Given the description of an element on the screen output the (x, y) to click on. 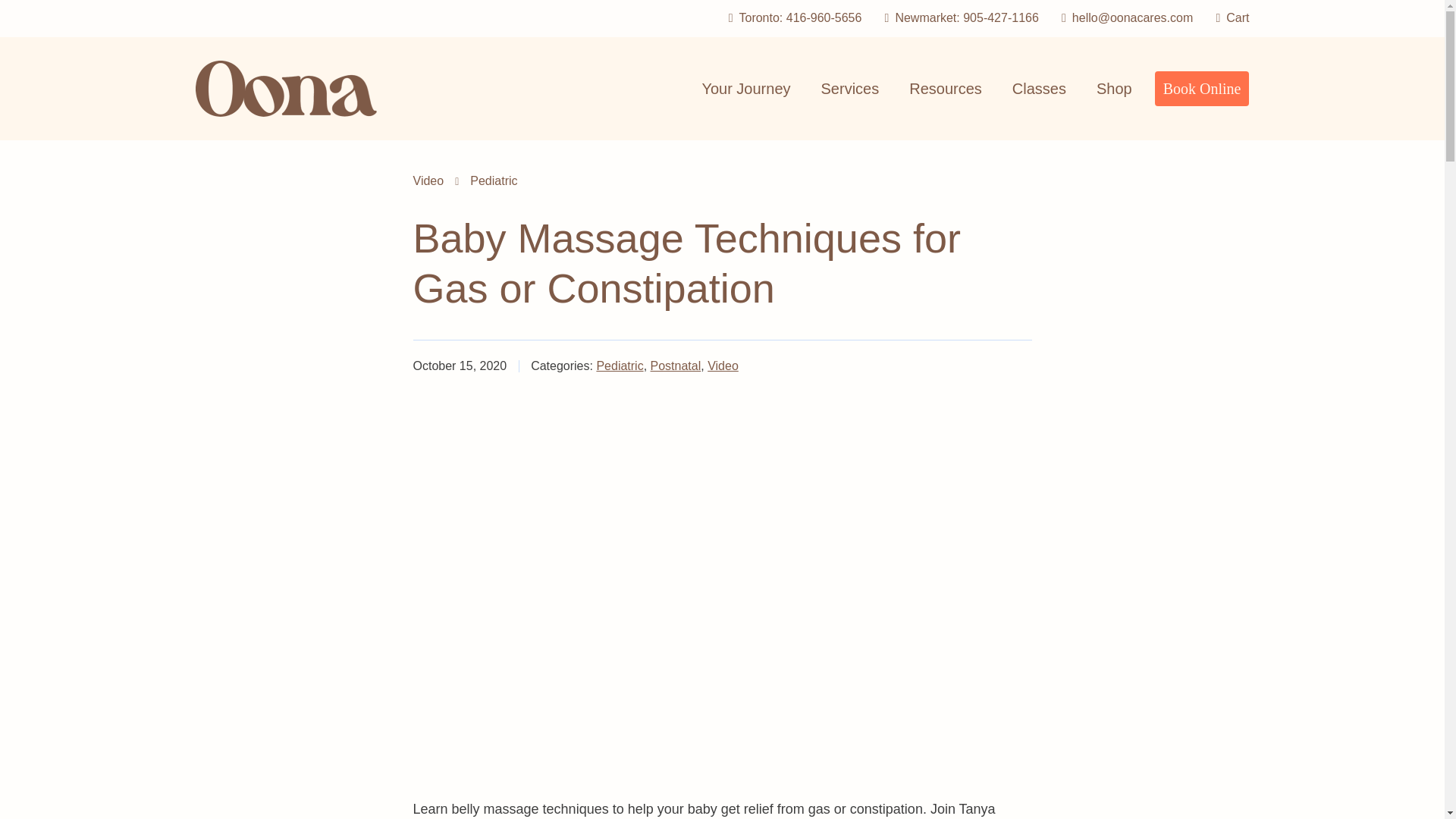
Resources (945, 88)
Newmarket: 905-427-1166 (955, 18)
Services (850, 88)
Cart (1227, 18)
Classes (1039, 88)
Toronto: 416-960-5656 (789, 18)
Your Journey (745, 88)
